Given the description of an element on the screen output the (x, y) to click on. 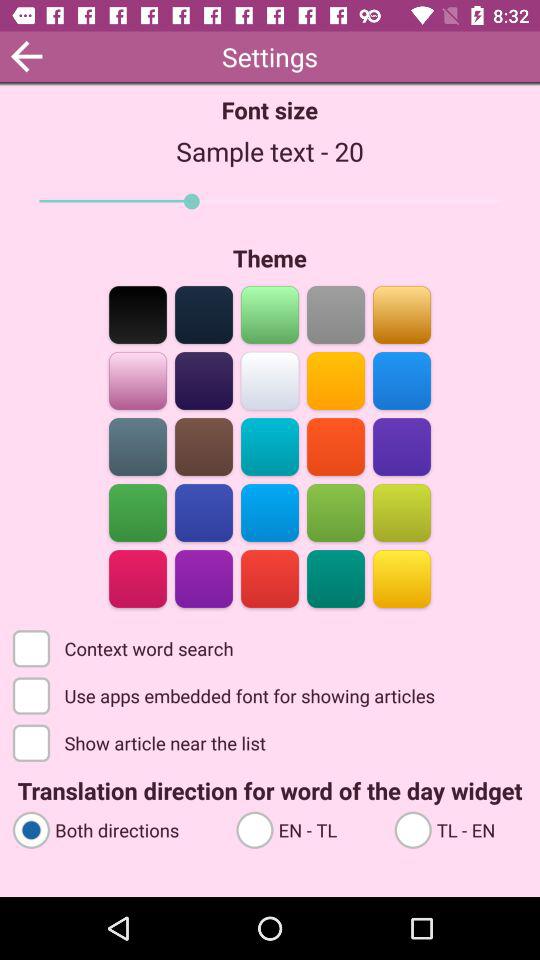
select orange color (335, 445)
